Given the description of an element on the screen output the (x, y) to click on. 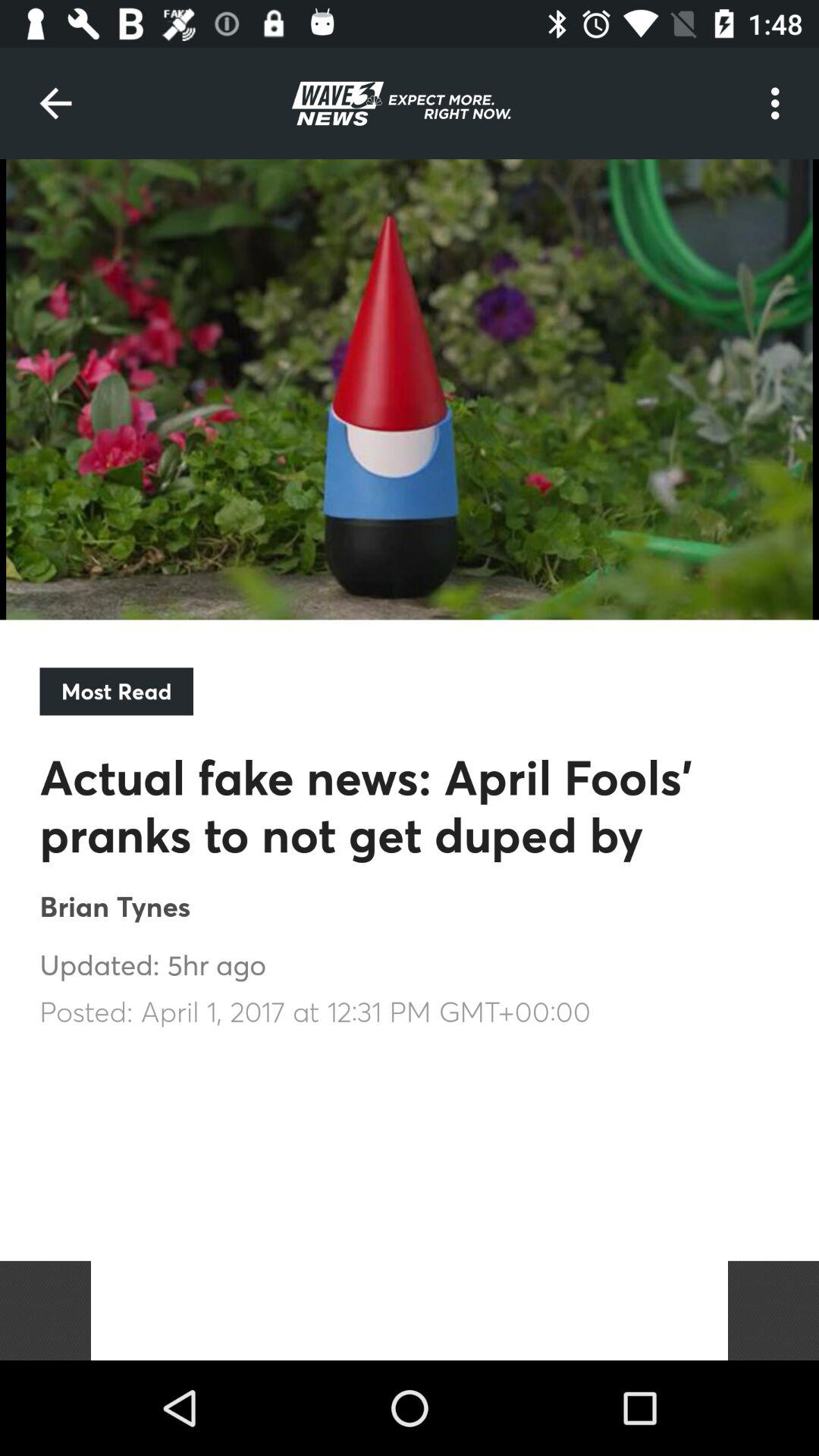
turn off icon above the actual fake news item (116, 691)
